Given the description of an element on the screen output the (x, y) to click on. 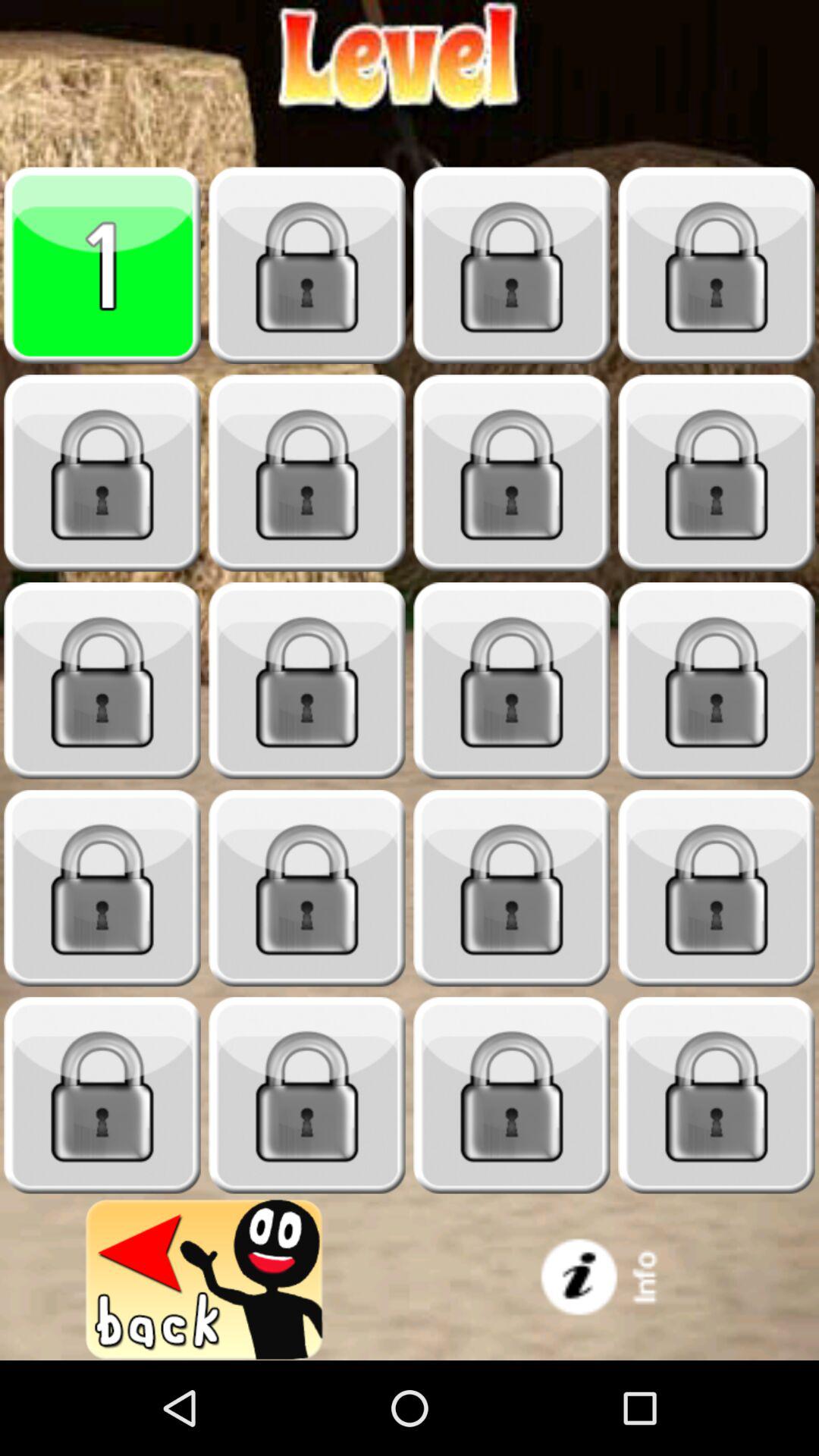
level of game (102, 265)
